Given the description of an element on the screen output the (x, y) to click on. 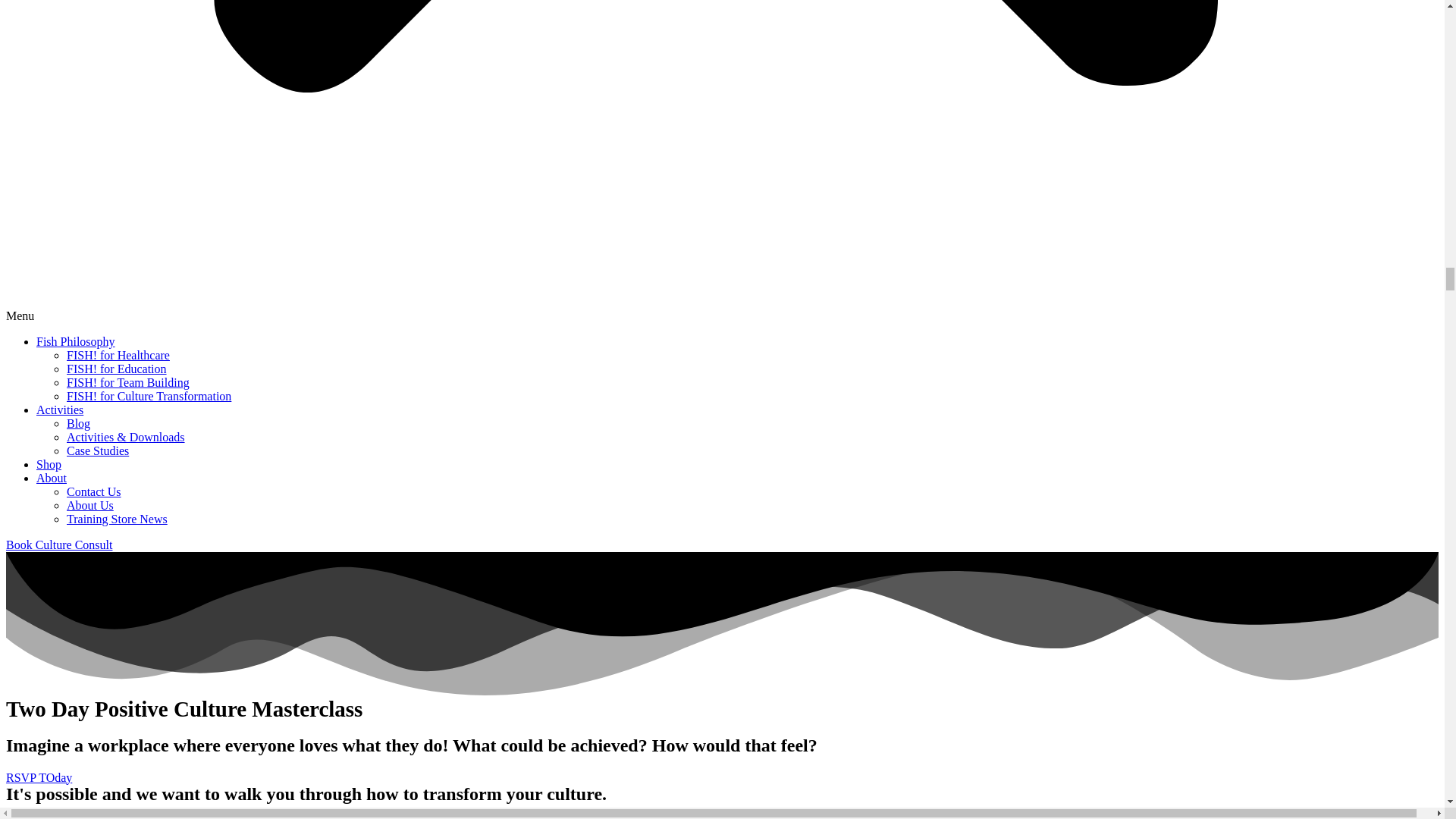
Case Studies (97, 450)
About (51, 477)
Blog (78, 422)
Contact Us (93, 491)
RSVP TOday (38, 777)
About Us (89, 504)
FISH! for Education (116, 368)
FISH! for Team Building (127, 382)
Training Store News (116, 518)
Fish Philosophy (75, 341)
